Given the description of an element on the screen output the (x, y) to click on. 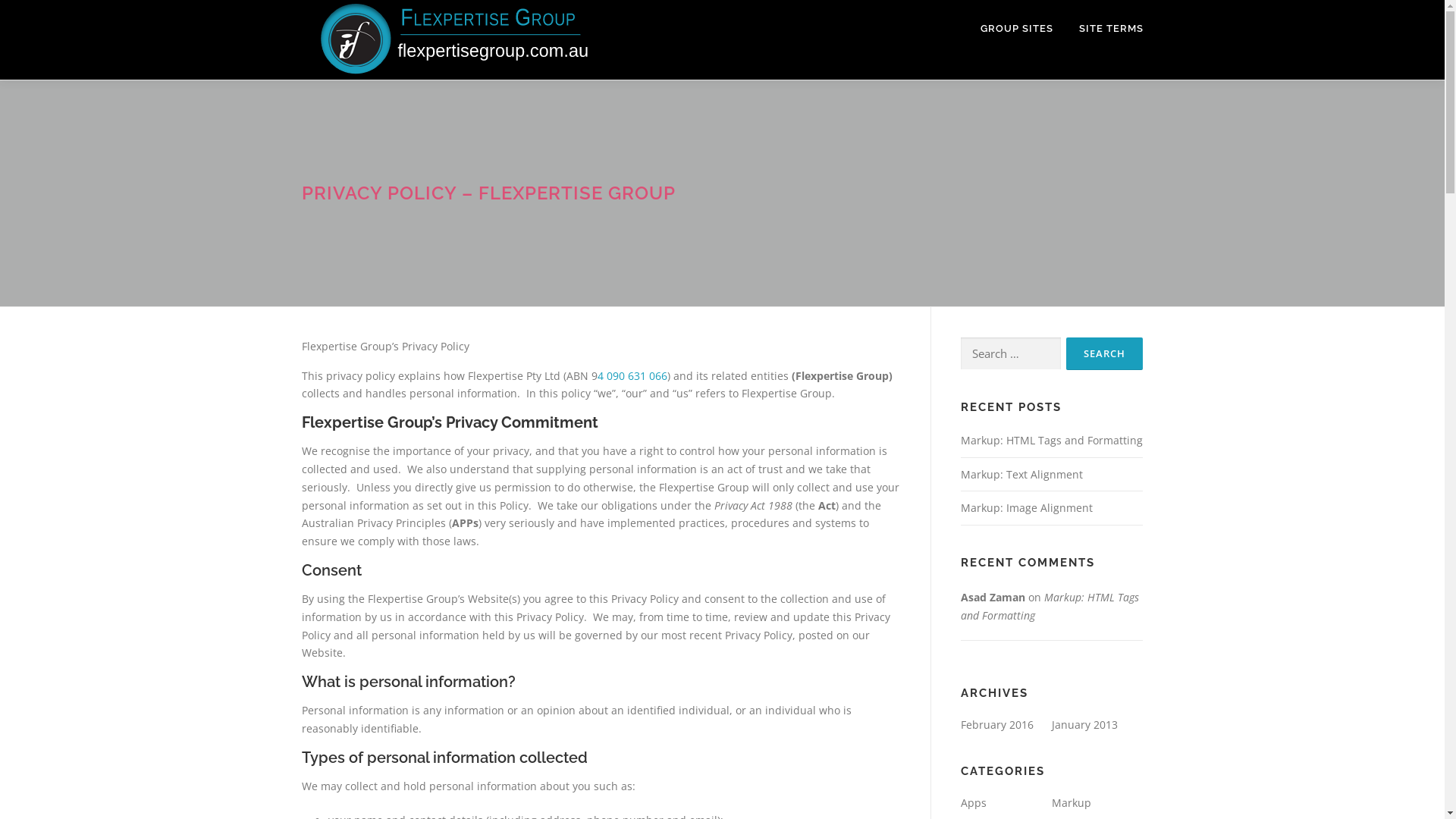
Asad Zaman Element type: text (992, 596)
January 2013 Element type: text (1084, 724)
4 090 631 066 Element type: text (632, 375)
Markup: HTML Tags and Formatting Element type: text (1051, 440)
Markup: Text Alignment Element type: text (1021, 474)
GROUP SITES Element type: text (1016, 28)
Markup Element type: text (1070, 802)
Markup: HTML Tags and Formatting Element type: text (1049, 605)
Apps Element type: text (972, 802)
Markup: Image Alignment Element type: text (1026, 507)
February 2016 Element type: text (996, 724)
Search Element type: text (1104, 353)
SITE TERMS Element type: text (1104, 28)
